Given the description of an element on the screen output the (x, y) to click on. 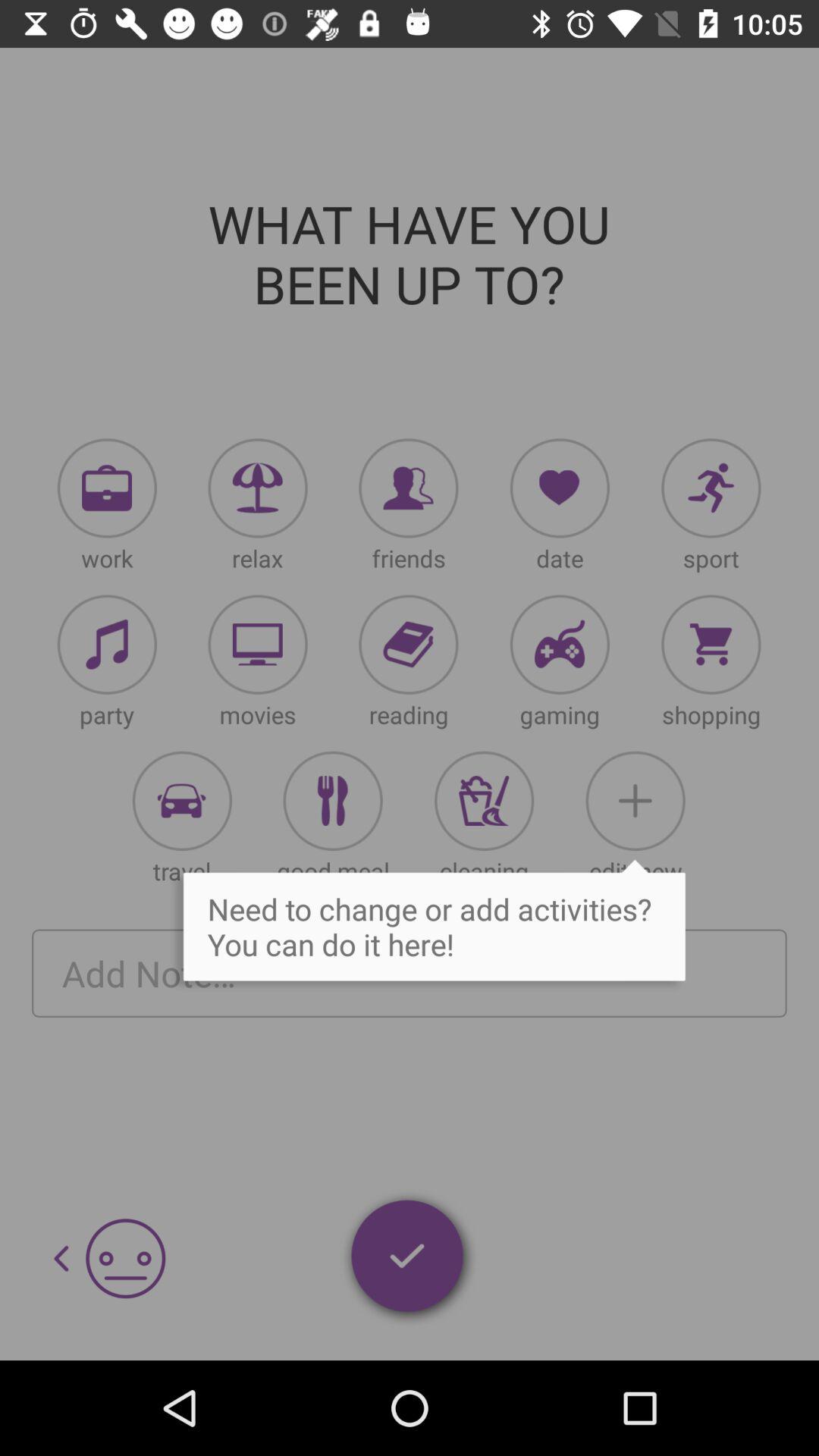
open reading (408, 644)
